Given the description of an element on the screen output the (x, y) to click on. 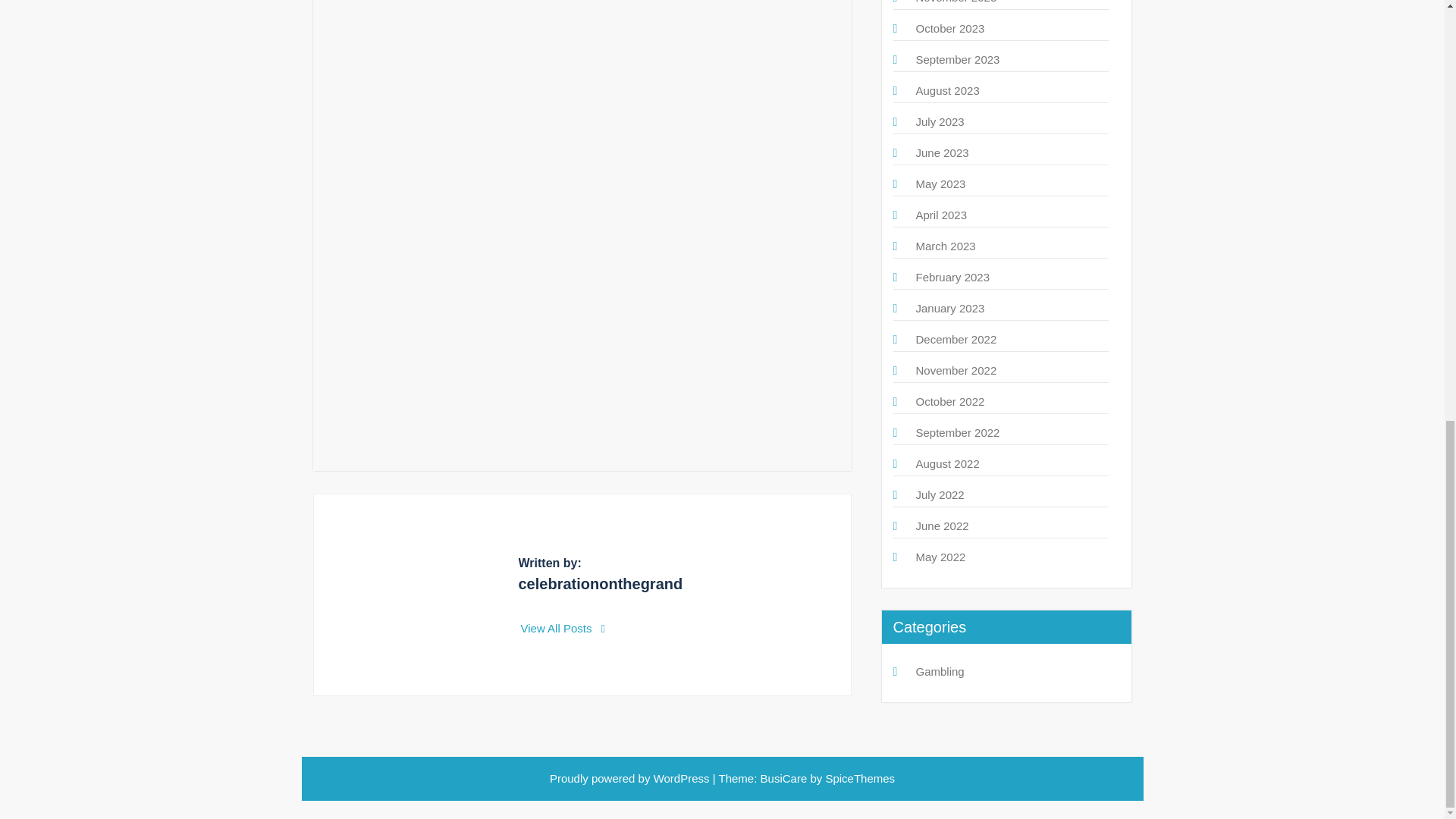
May 2022 (940, 556)
WordPress (681, 778)
December 2022 (956, 338)
October 2023 (950, 28)
January 2023 (950, 308)
February 2023 (952, 277)
April 2023 (941, 214)
November 2022 (956, 369)
May 2023 (940, 183)
June 2022 (942, 525)
